Given the description of an element on the screen output the (x, y) to click on. 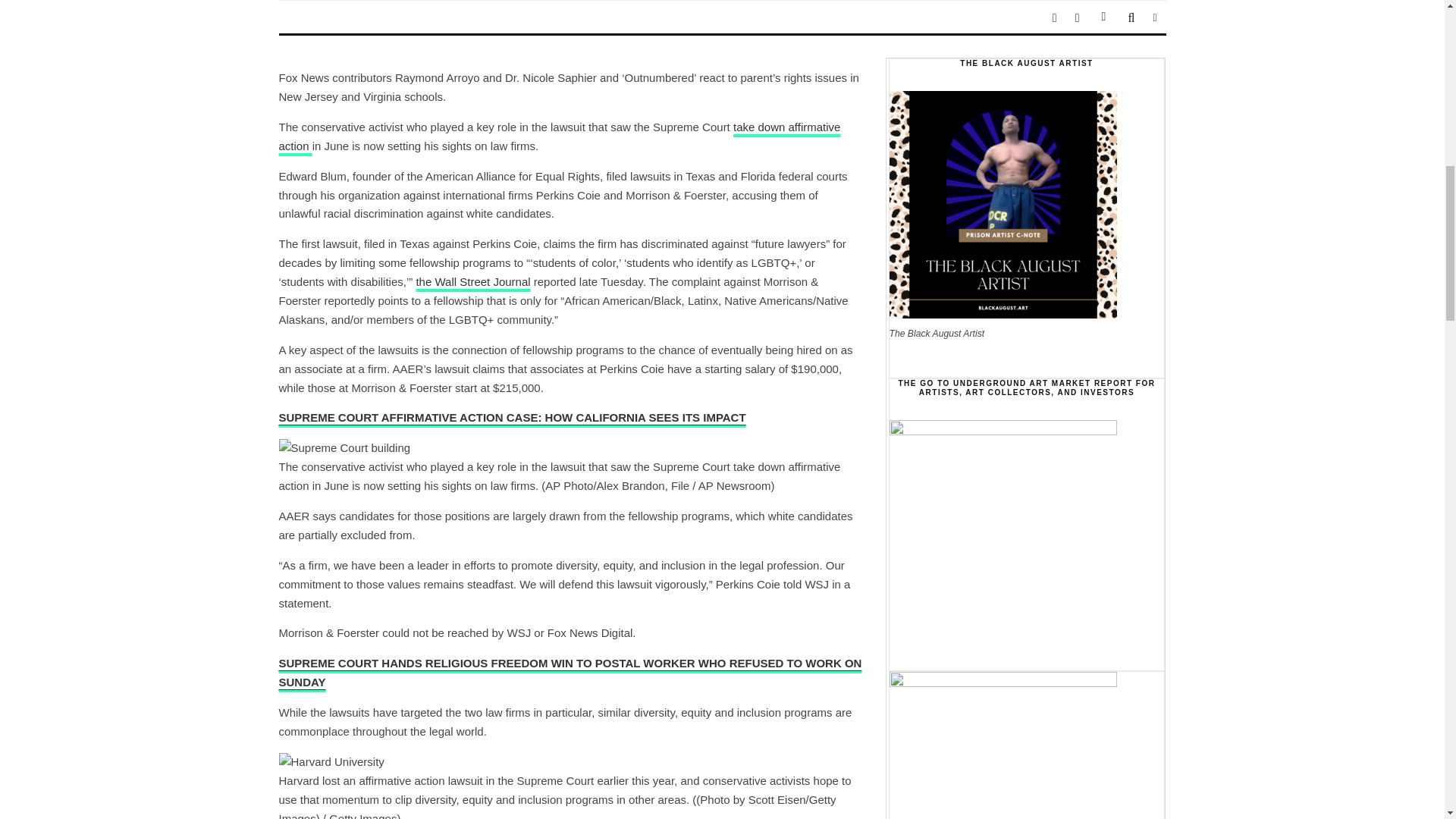
take down affirmative action (560, 136)
the Wall Street Journal (471, 281)
